Given the description of an element on the screen output the (x, y) to click on. 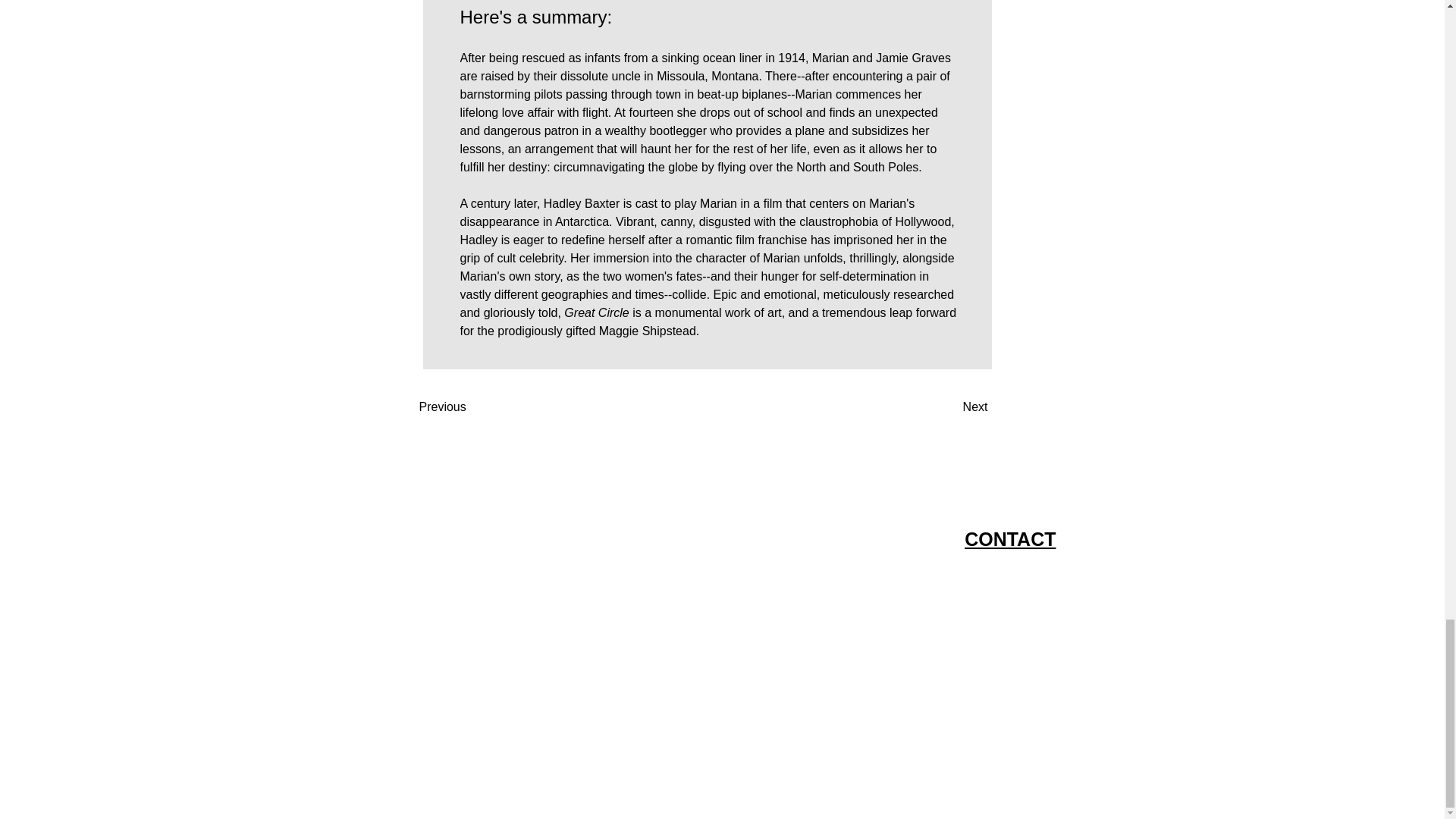
CONTACT (1009, 538)
Previous (467, 407)
Next (949, 407)
